Given the description of an element on the screen output the (x, y) to click on. 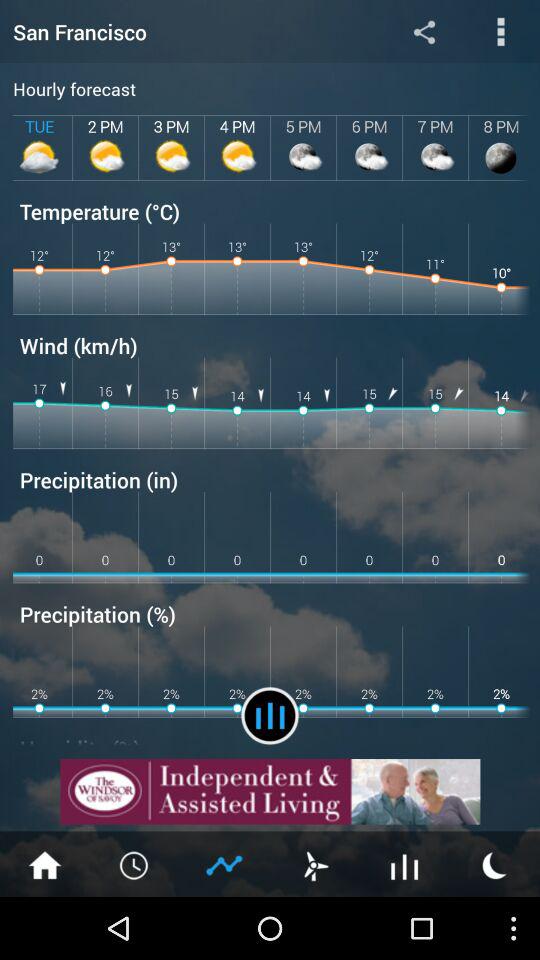
link to advertisement (270, 791)
